Given the description of an element on the screen output the (x, y) to click on. 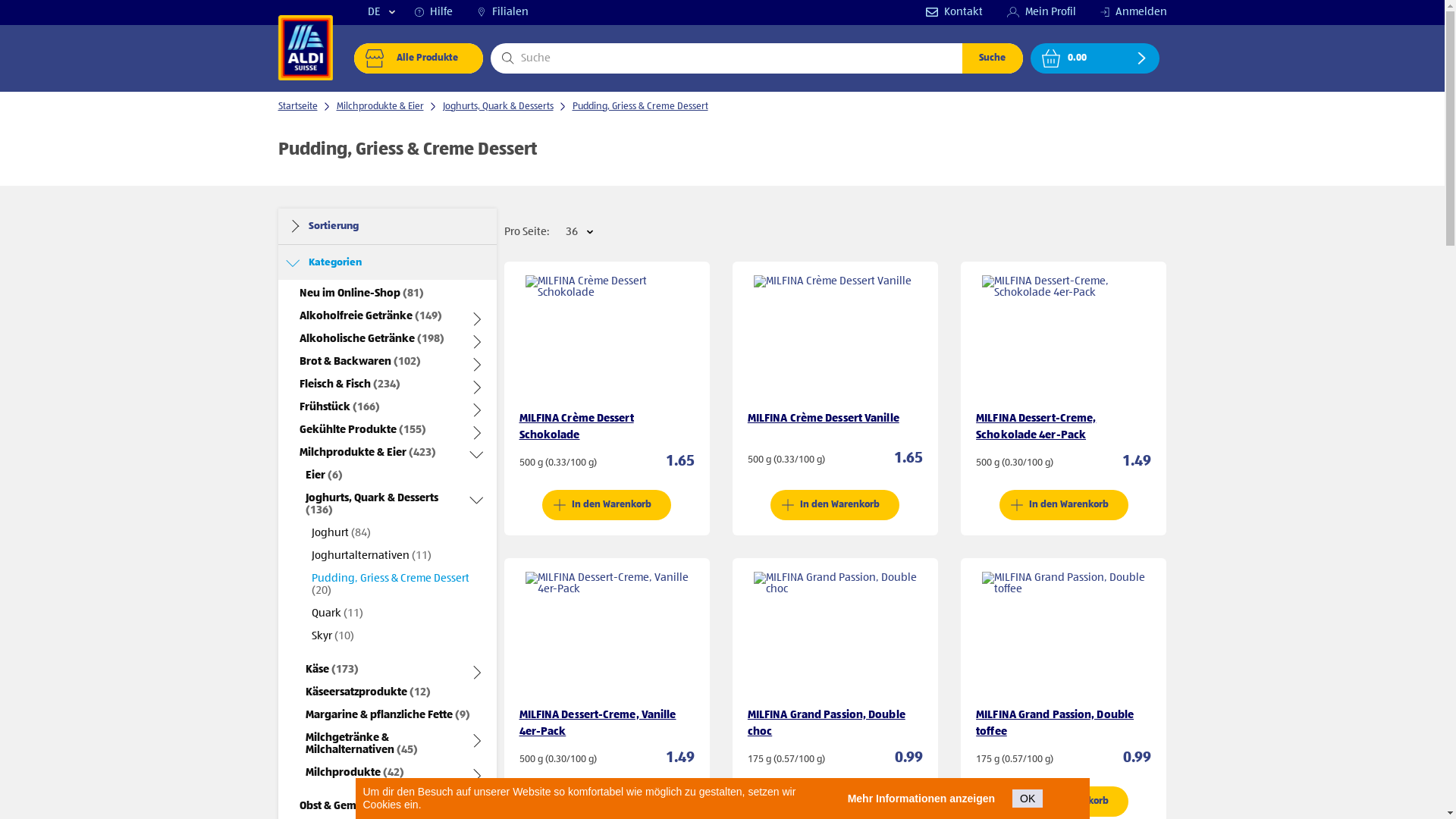
Filialen Element type: text (501, 12)
Kontakt Element type: text (953, 12)
Joghurt (84) Element type: text (340, 533)
add Element type: hover (1016, 800)
In den Warenkorb Element type: text (1063, 800)
Anmelden Element type: text (1132, 12)
Hilfe Element type: text (432, 12)
add Element type: hover (787, 800)
add Element type: hover (559, 800)
arrow-down Element type: hover (589, 232)
MILFINA Dessert-Creme, Schokolade 4er-Pack Element type: text (1035, 426)
MILFINA Grand Passion, Double choc Element type: text (826, 722)
Quark (11) Element type: text (336, 613)
Eier (6) Element type: text (323, 475)
Joghurts, Quark & Desserts Element type: text (497, 105)
search Element type: hover (508, 57)
Skyr (10) Element type: text (331, 636)
Pudding, Griess & Creme Dessert Element type: text (639, 105)
In den Warenkorb Element type: text (834, 800)
Mehr Informationen anzeigen Element type: text (920, 798)
Mein Profil Element type: text (1041, 12)
shop Element type: hover (374, 57)
add Element type: hover (559, 504)
cart Element type: hover (1050, 57)
In den Warenkorb Element type: text (606, 800)
help Element type: hover (418, 11)
add Element type: hover (787, 504)
Joghurtalternativen (11) Element type: text (370, 555)
envelop Element type: hover (931, 12)
Milchprodukte (42) Element type: text (353, 772)
arrow-down Element type: hover (391, 12)
Fleisch & Fisch (234) Element type: text (348, 384)
Alle Produkte Element type: text (417, 57)
In den Warenkorb Element type: text (834, 504)
user-account Element type: hover (1013, 12)
0.00 Element type: text (1093, 57)
Margarine & pflanzliche Fette (9) Element type: text (386, 715)
Pudding, Griess & Creme Dessert (20) Element type: text (395, 584)
Startseite Element type: text (296, 105)
Suche Element type: text (991, 57)
Brot & Backwaren (102) Element type: text (359, 361)
Milchprodukte & Eier Element type: text (379, 105)
In den Warenkorb Element type: text (606, 504)
chevron-right Element type: hover (1141, 57)
MILFINA Grand Passion, Double toffee Element type: text (1054, 722)
login Element type: hover (1103, 11)
In den Warenkorb Element type: text (1063, 504)
MILFINA Dessert-Creme, Vanille 4er-Pack Element type: text (596, 722)
Joghurts, Quark & Desserts (136) Element type: text (384, 504)
Milchprodukte & Eier (423) Element type: text (366, 452)
store-finder Element type: hover (480, 11)
Neu im Online-Shop (81) Element type: text (360, 293)
add Element type: hover (1016, 504)
